Given the description of an element on the screen output the (x, y) to click on. 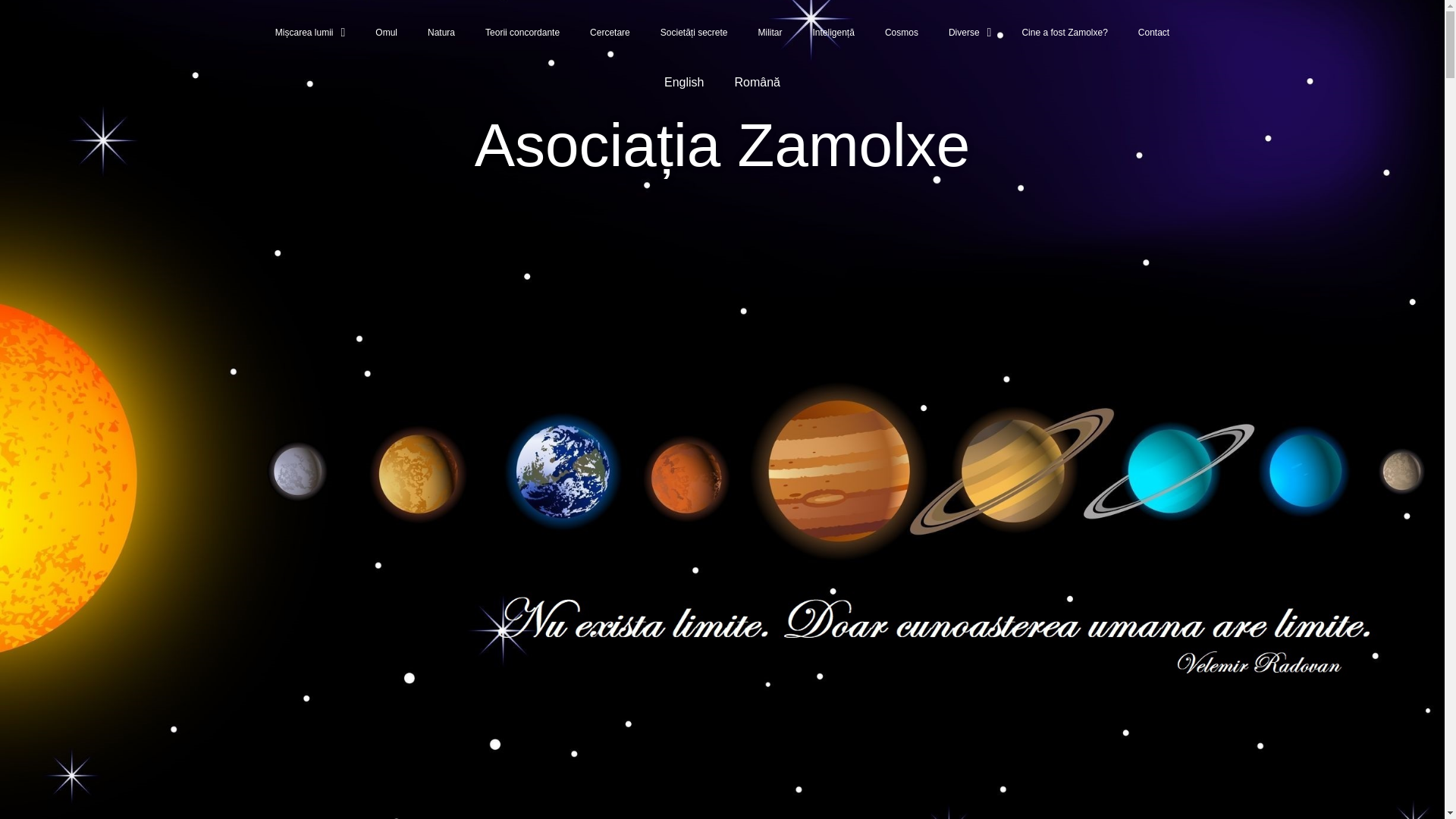
Diverse (970, 32)
Militar (769, 32)
Cercetare (610, 32)
Teorii concordante (522, 32)
Omul (385, 32)
Contact (1153, 32)
English (684, 82)
Natura (441, 32)
Cine a fost Zamolxe? (1064, 32)
Cosmos (901, 32)
